Given the description of an element on the screen output the (x, y) to click on. 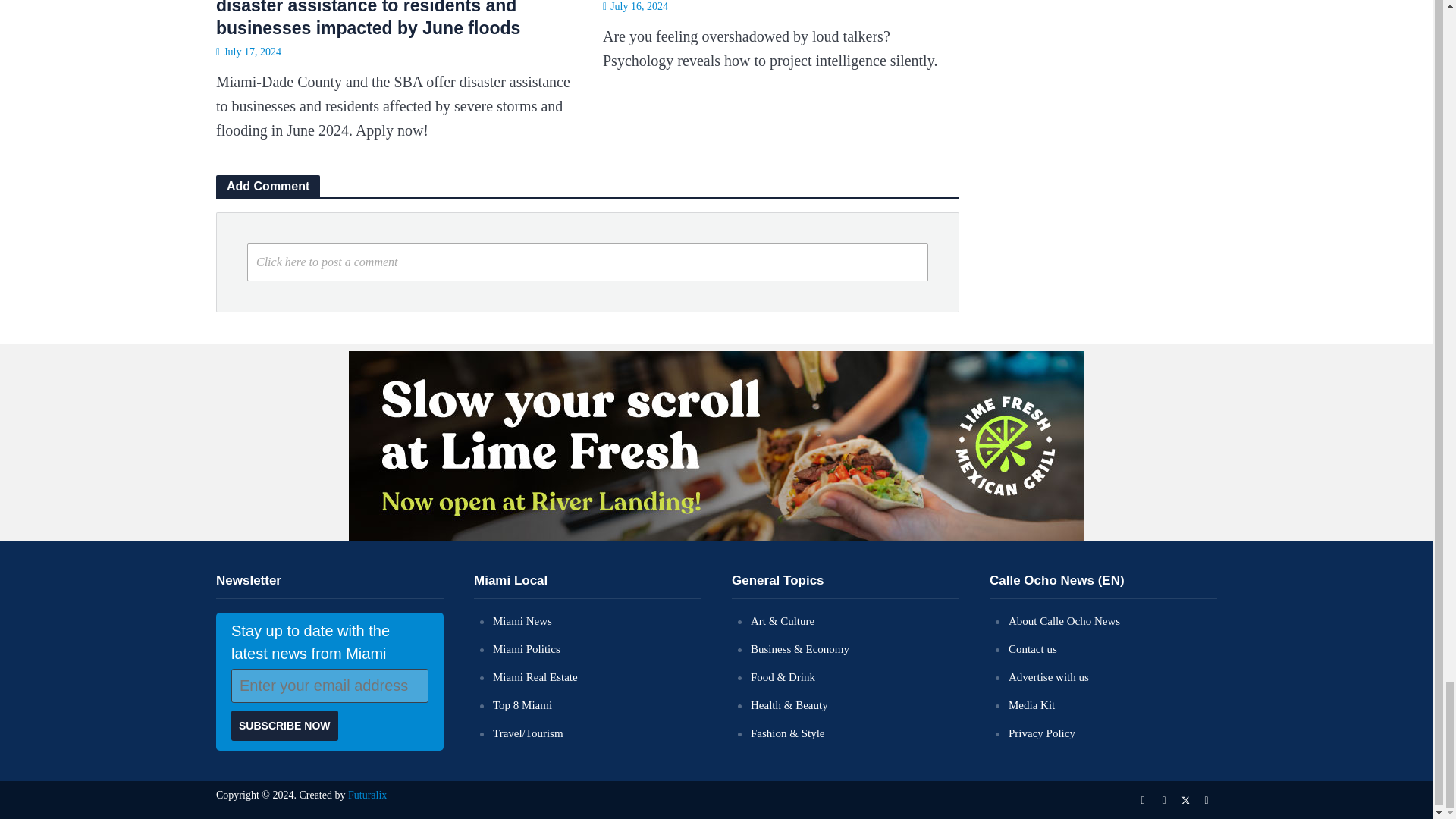
Subscribe Now (284, 725)
